Given the description of an element on the screen output the (x, y) to click on. 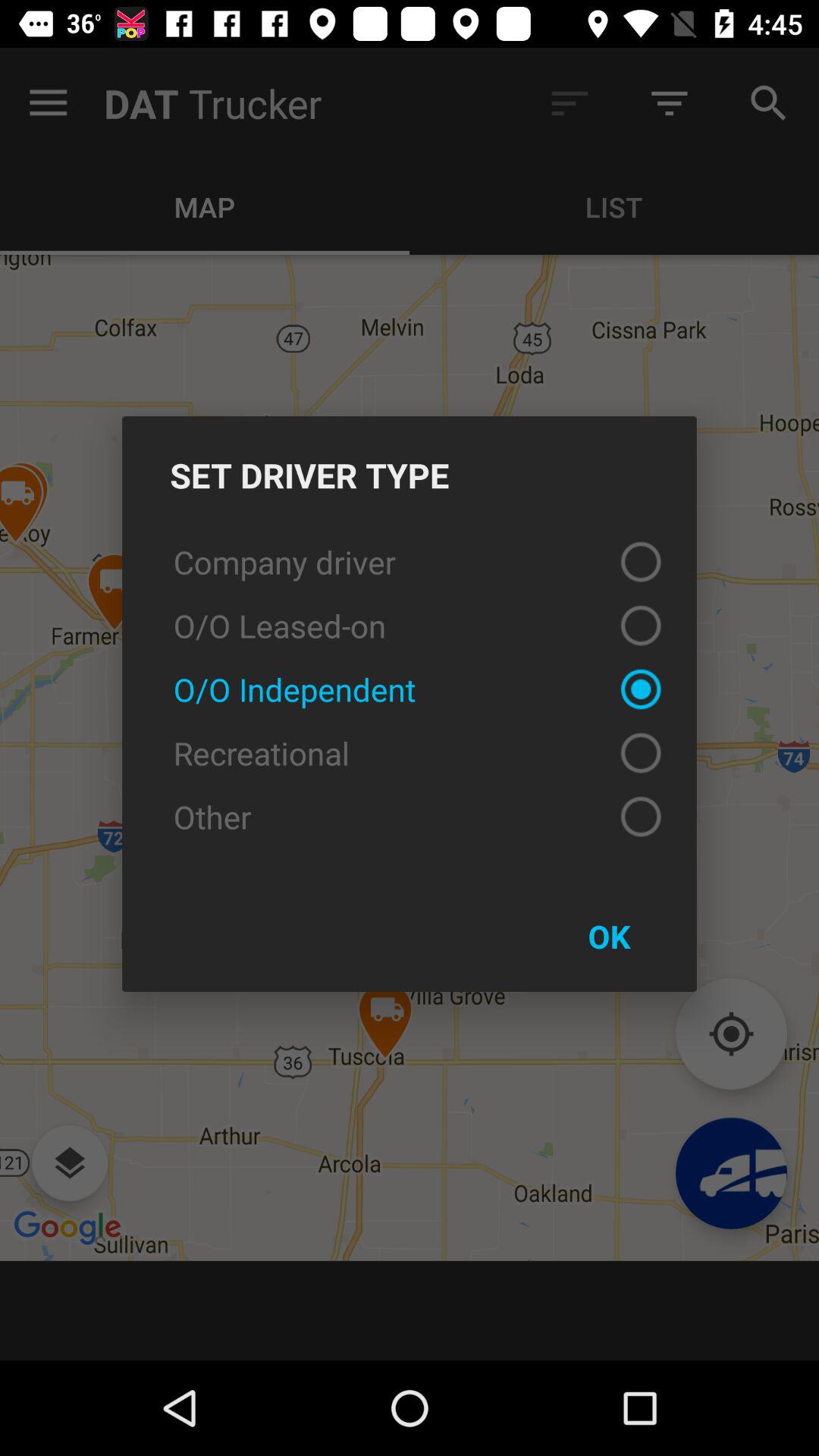
swipe until the ok icon (608, 935)
